Given the description of an element on the screen output the (x, y) to click on. 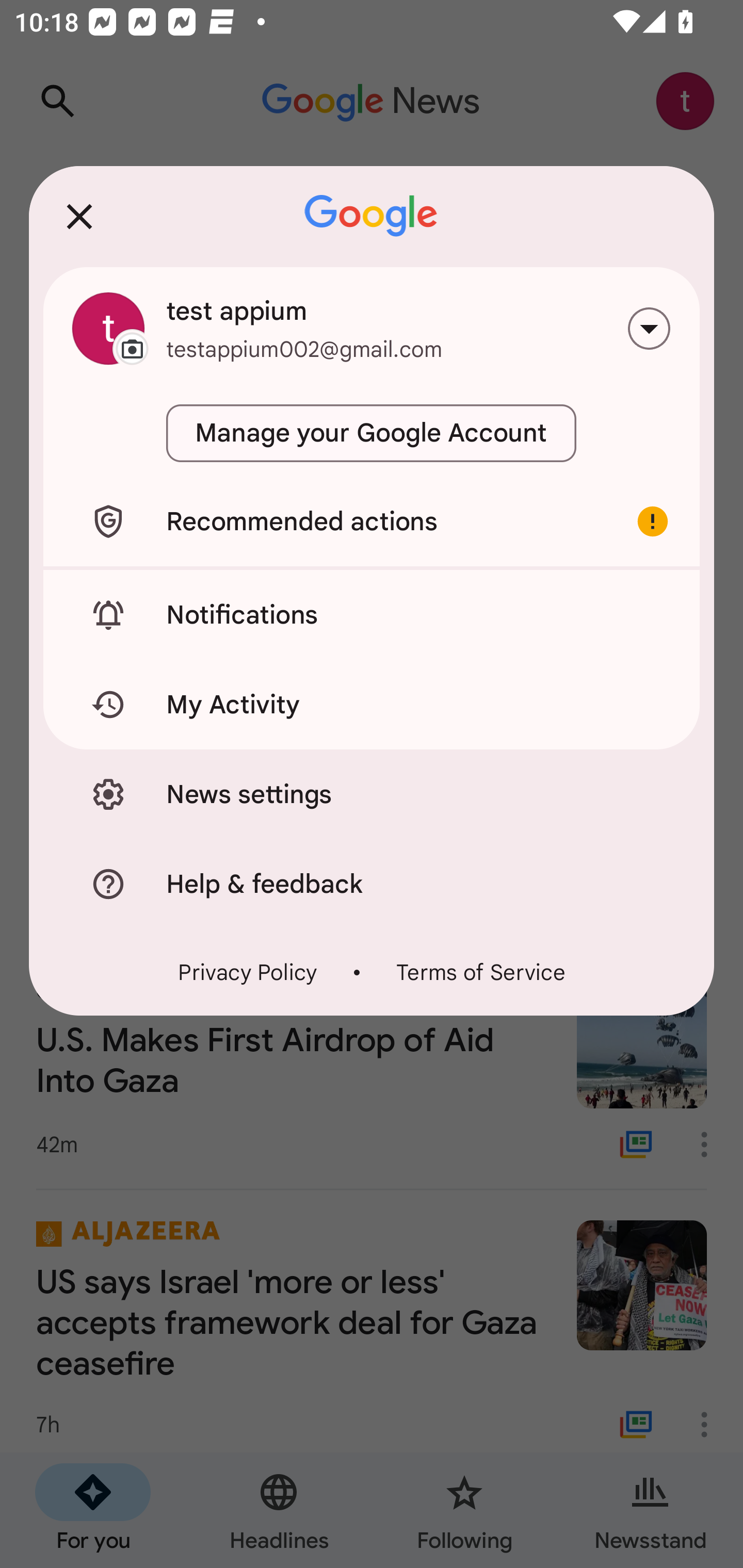
Close (79, 216)
Change profile picture. (108, 328)
Manage your Google Account (371, 433)
Recommended actions Important account alert (371, 521)
Notifications (371, 614)
My Activity (371, 704)
News settings (371, 793)
Help & feedback (371, 883)
Privacy Policy (247, 972)
Terms of Service (479, 972)
